Given the description of an element on the screen output the (x, y) to click on. 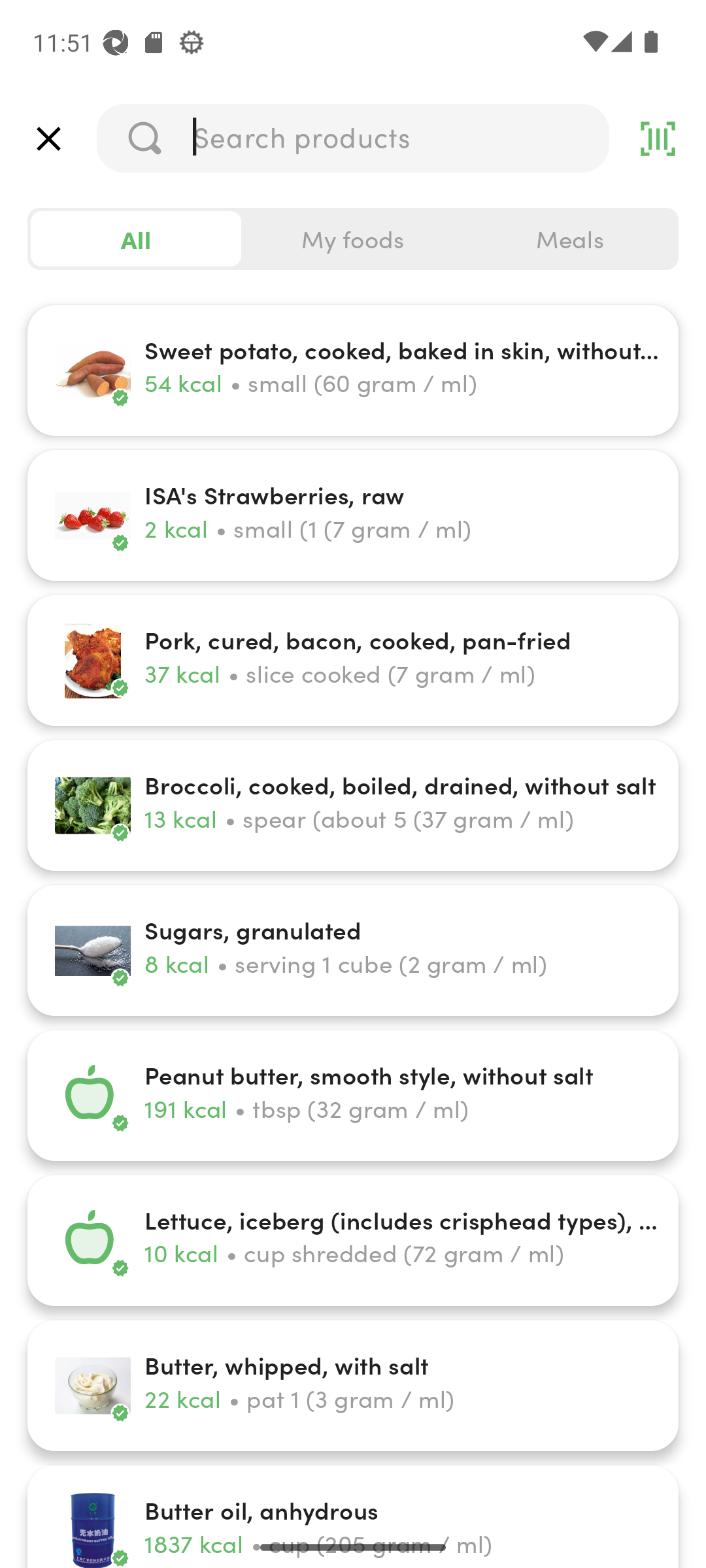
top_left_action (48, 138)
top_right_action (658, 138)
My foods (352, 238)
Meals (569, 238)
